Given the description of an element on the screen output the (x, y) to click on. 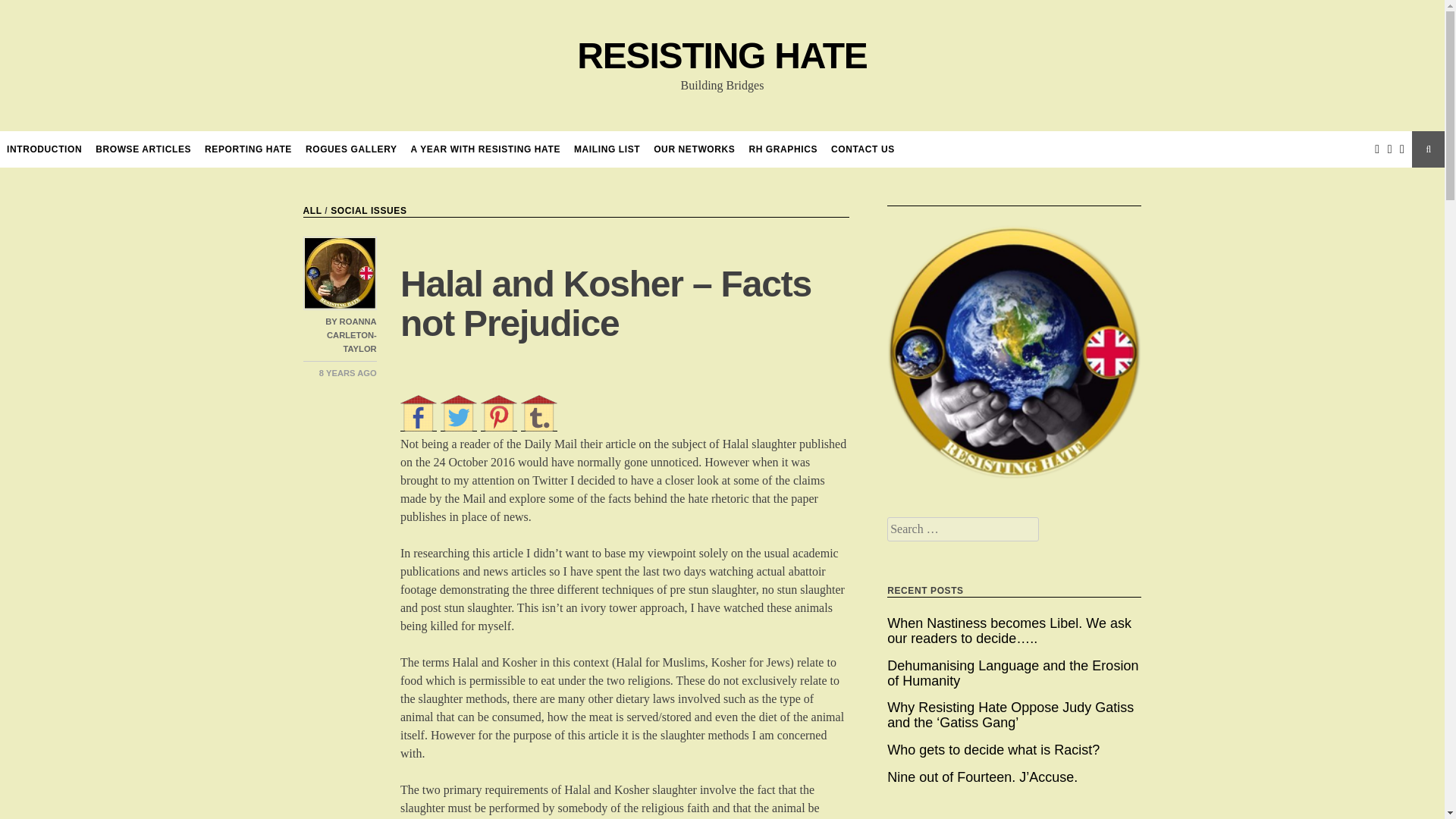
Share on tumblr (539, 412)
OUR NETWORKS (694, 149)
Pin it with Pinterest (498, 412)
REPORTING HATE (248, 149)
RESISTING HATE (721, 56)
CONTACT US (863, 149)
ALL (311, 210)
MAILING LIST (606, 149)
RH GRAPHICS (782, 149)
INTRODUCTION (44, 149)
A YEAR WITH RESISTING HATE (485, 149)
Tweet (459, 412)
Share on Facebook (418, 412)
BROWSE ARTICLES (143, 149)
ROGUES GALLERY (351, 149)
